Given the description of an element on the screen output the (x, y) to click on. 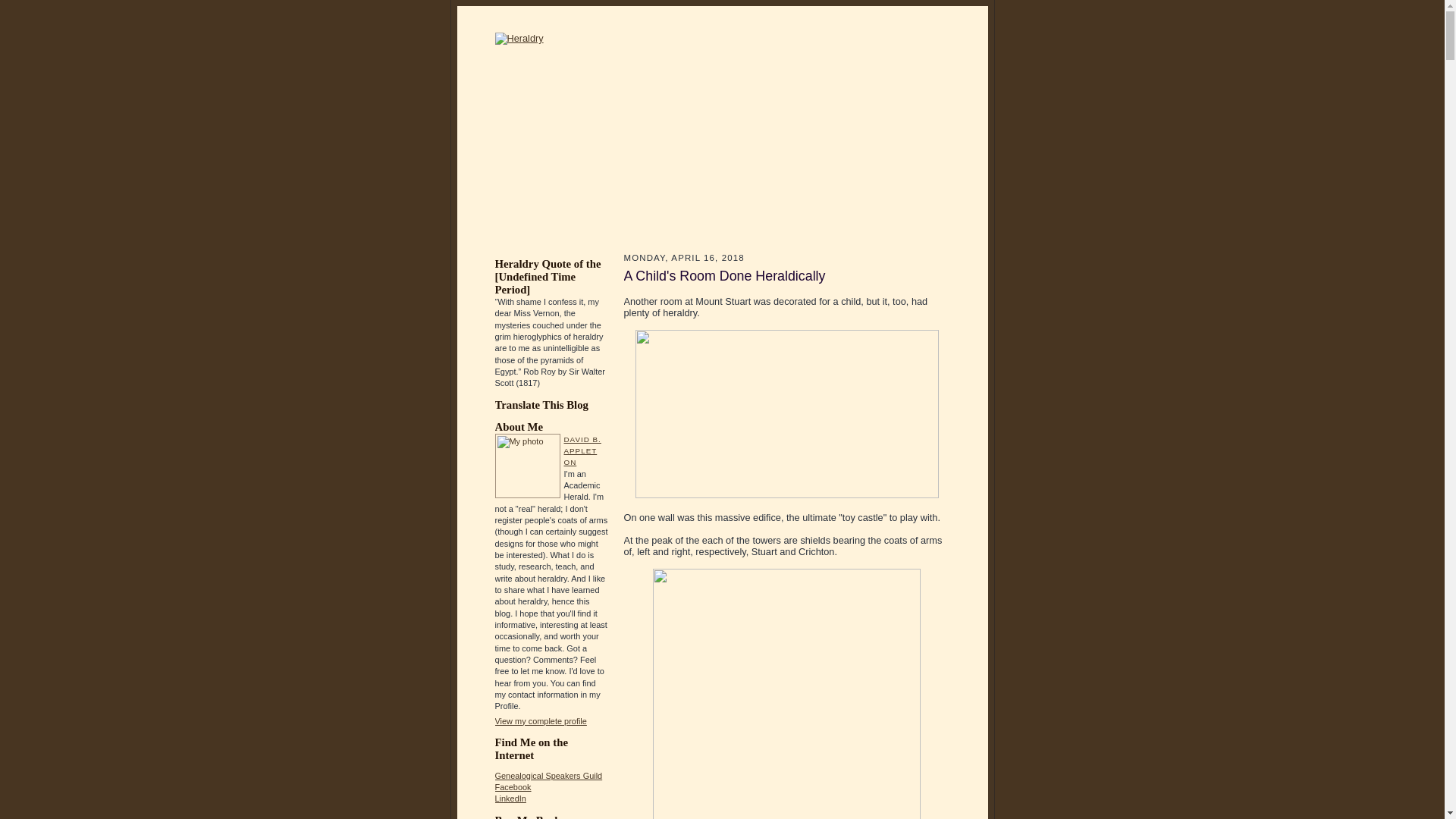
DAVID B. APPLETON (582, 450)
Genealogical Speakers Guild (548, 775)
LinkedIn (510, 798)
View my complete profile (540, 719)
Facebook (513, 786)
